Given the description of an element on the screen output the (x, y) to click on. 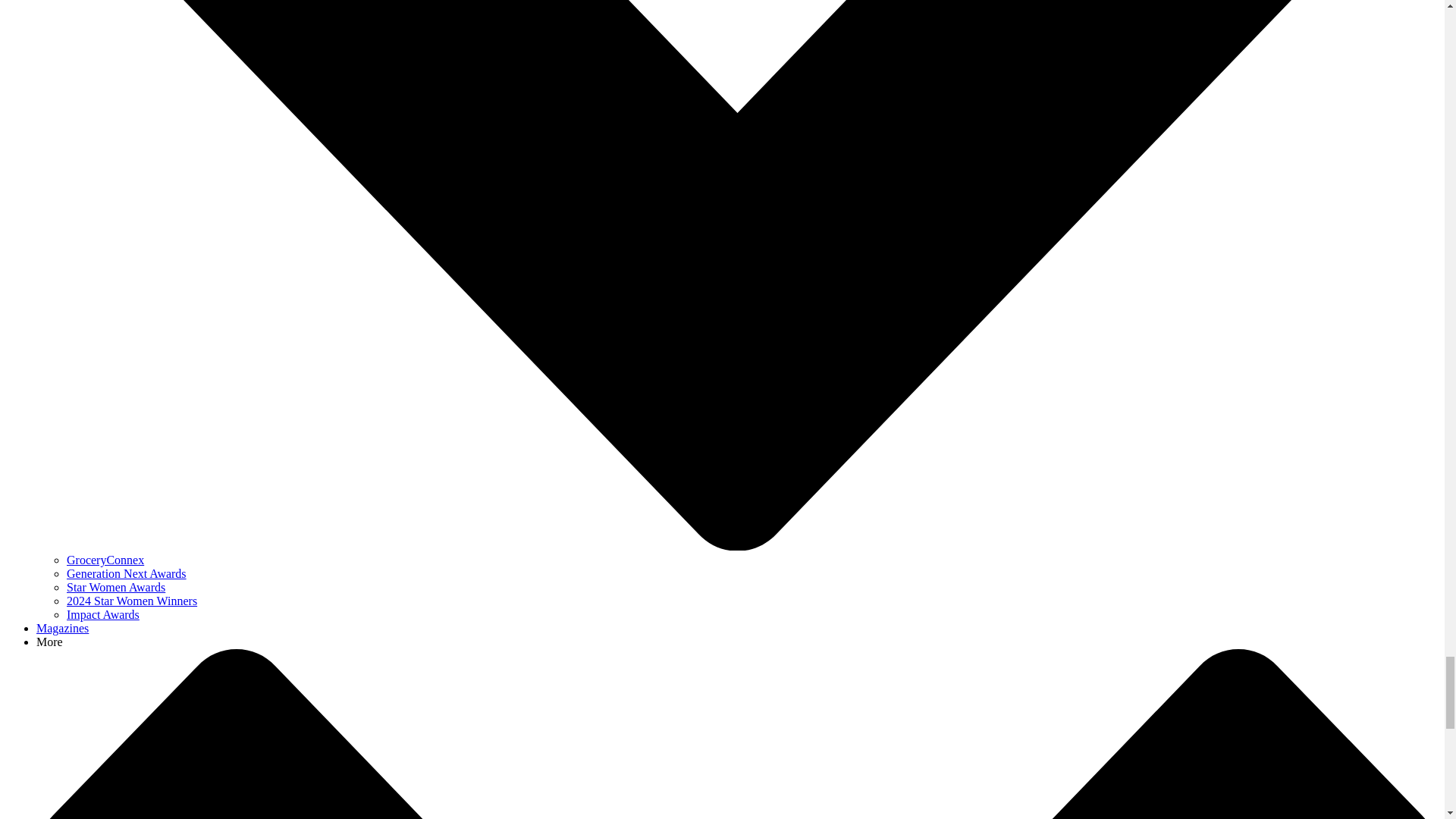
Generation Next Awards (126, 573)
Star Women Awards (115, 586)
Impact Awards (102, 614)
GroceryConnex (105, 559)
Magazines (62, 627)
2024 Star Women Winners (131, 600)
More (49, 641)
